Given the description of an element on the screen output the (x, y) to click on. 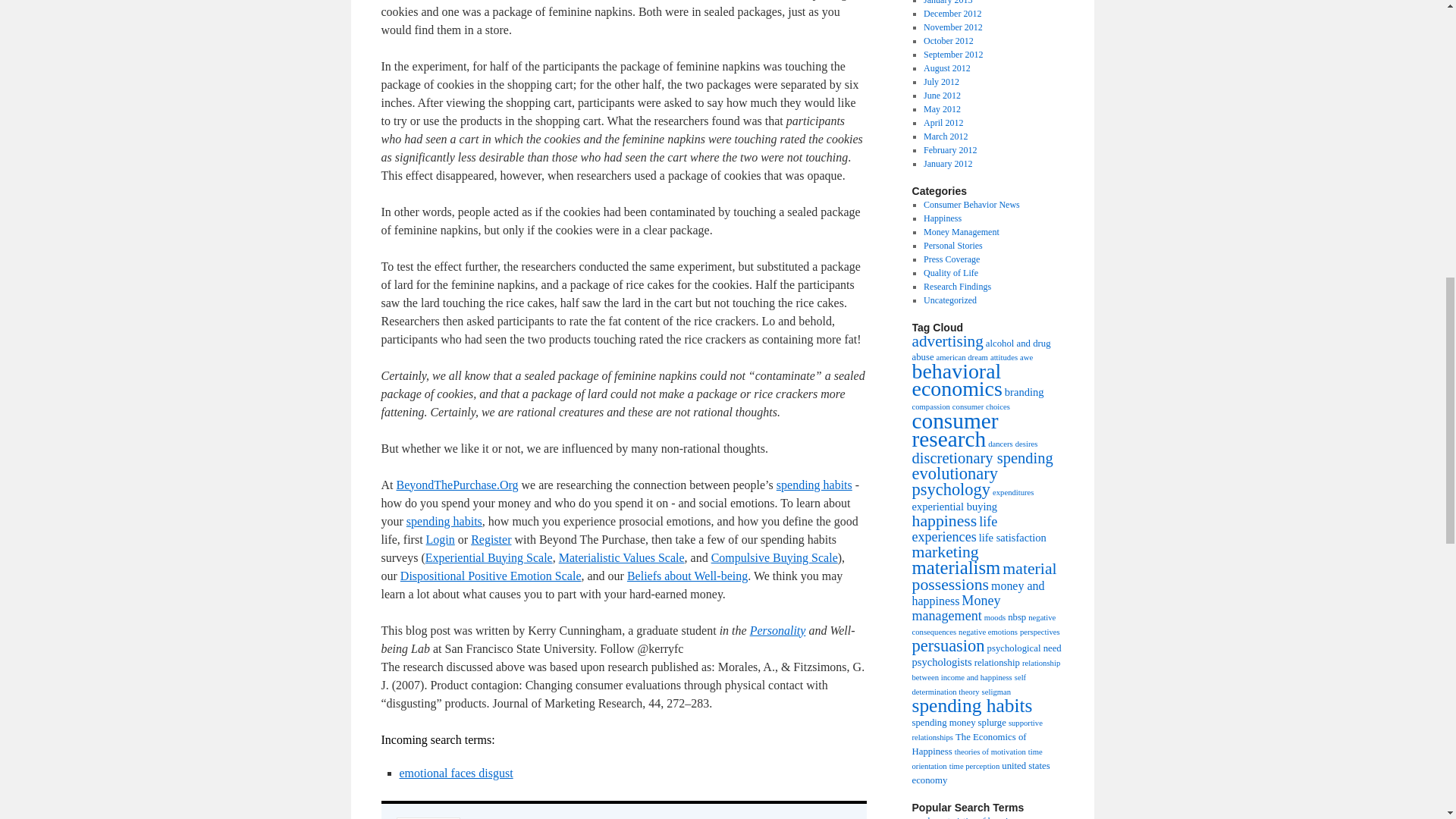
spending habits (443, 521)
Compulsive Buying Scale (774, 557)
Register (490, 539)
emotional faces disgust (455, 772)
Beyond The Purchase (457, 484)
Dispositional Positive Emotion Scale (490, 575)
BeyondThePurchase.Org (457, 484)
Personality (777, 630)
Experiential Buying Scale (489, 557)
Material Value Scale (621, 557)
Materialistic Values Scale (621, 557)
Login (440, 539)
Beliefs about Well-being (687, 575)
Compulsive Buying Scale (774, 557)
Beyond The Purchase Login (440, 539)
